Given the description of an element on the screen output the (x, y) to click on. 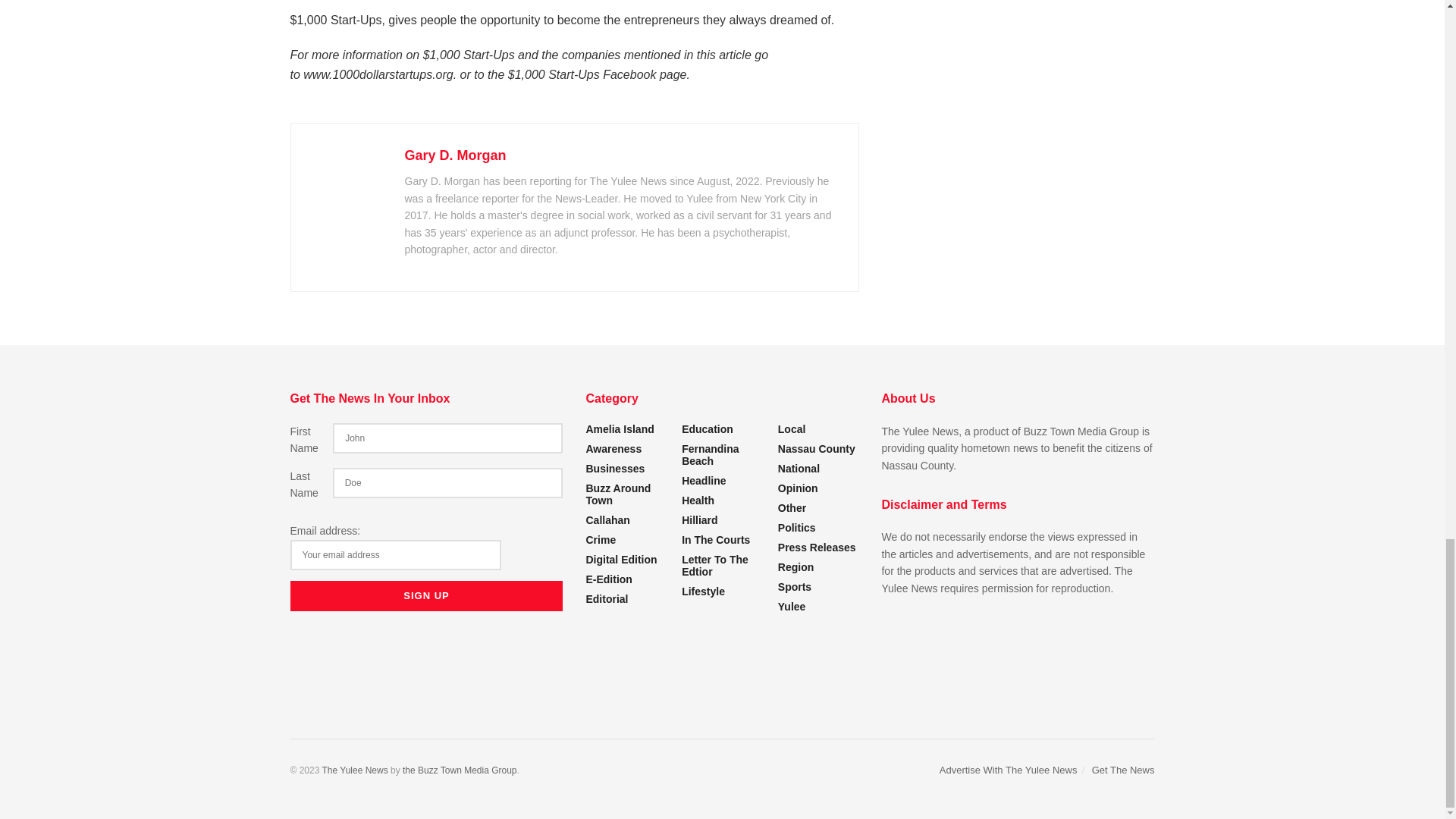
The Yulee News (354, 769)
Jegtheme (459, 769)
Sign up (425, 595)
